Given the description of an element on the screen output the (x, y) to click on. 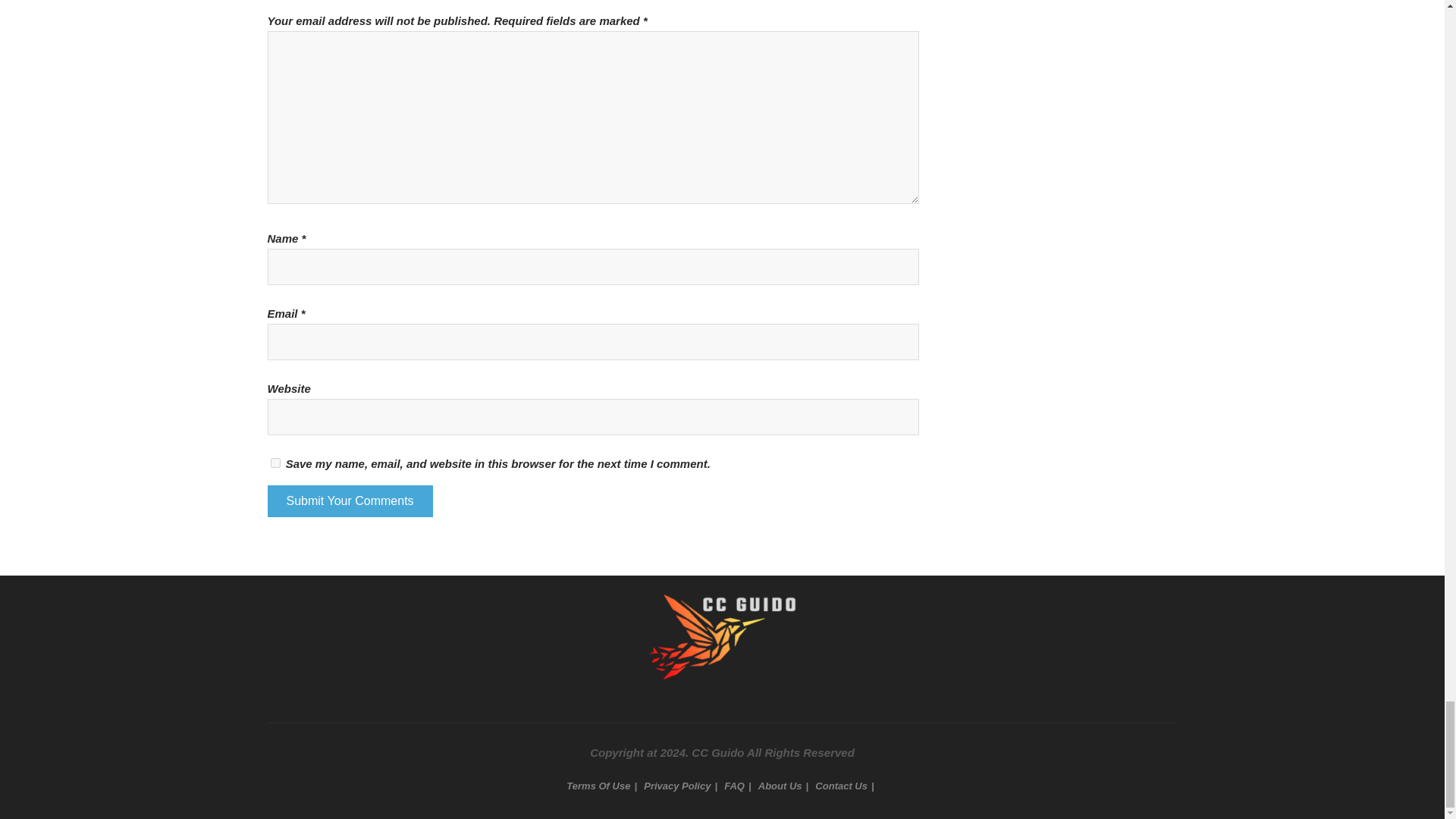
Submit Your Comments (349, 500)
Submit Your Comments (349, 500)
CC Guido (722, 609)
yes (274, 462)
